Given the description of an element on the screen output the (x, y) to click on. 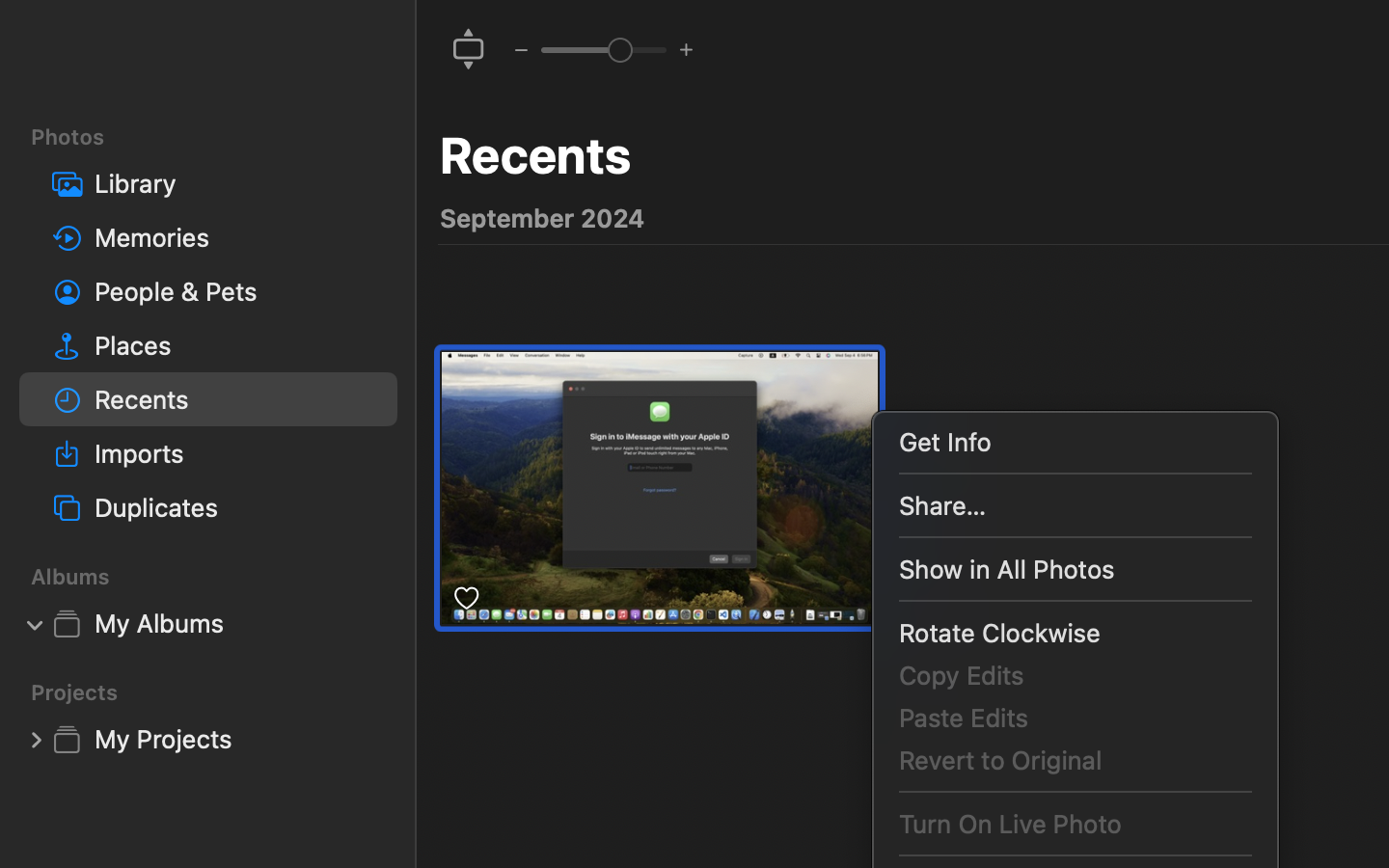
Library Element type: AXStaticText (237, 182)
0 Element type: AXDisclosureTriangle (35, 738)
Recents Element type: AXStaticText (534, 155)
Memories Element type: AXStaticText (237, 236)
Projects Element type: AXStaticText (219, 691)
